Given the description of an element on the screen output the (x, y) to click on. 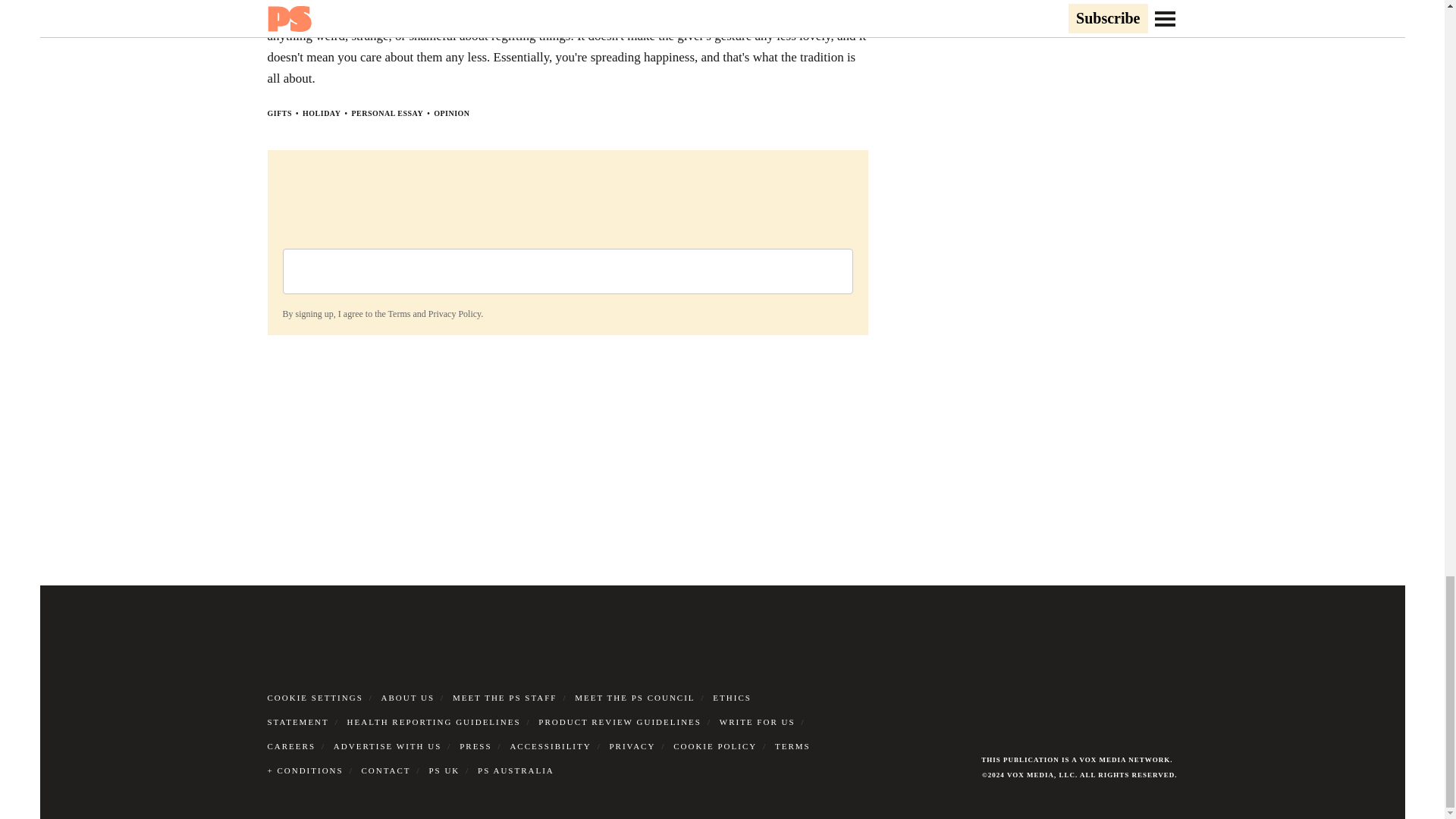
things that you truly will love and cherish (557, 14)
MEET THE PS COUNCIL (634, 697)
HEALTH REPORTING GUIDELINES (434, 721)
PRESS (476, 746)
Terms (399, 313)
PRODUCT REVIEW GUIDELINES (619, 721)
WRITE FOR US (756, 721)
CAREERS (290, 746)
MEET THE PS STAFF (504, 697)
ABOUT US (408, 697)
